Given the description of an element on the screen output the (x, y) to click on. 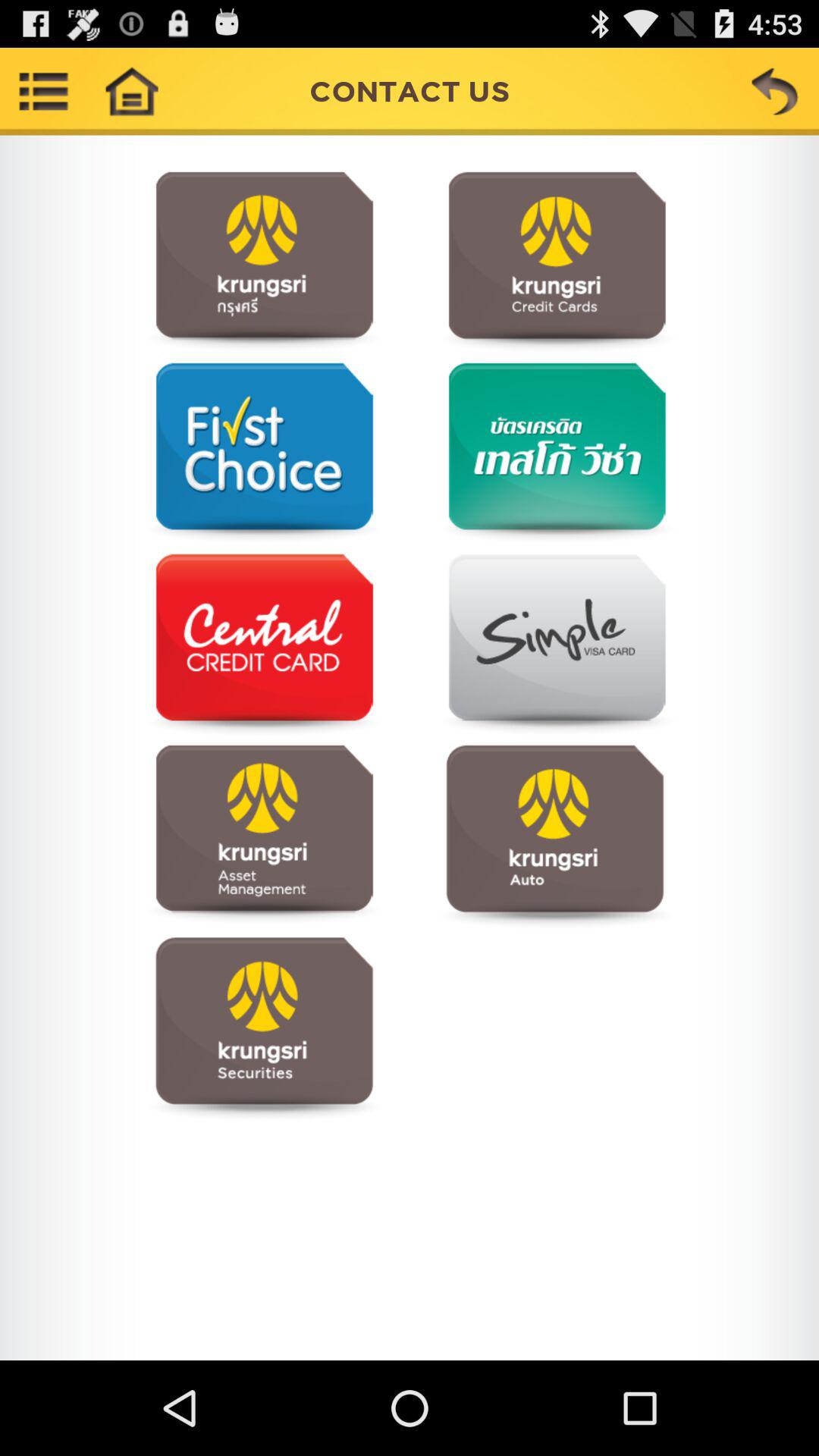
return (775, 91)
